Given the description of an element on the screen output the (x, y) to click on. 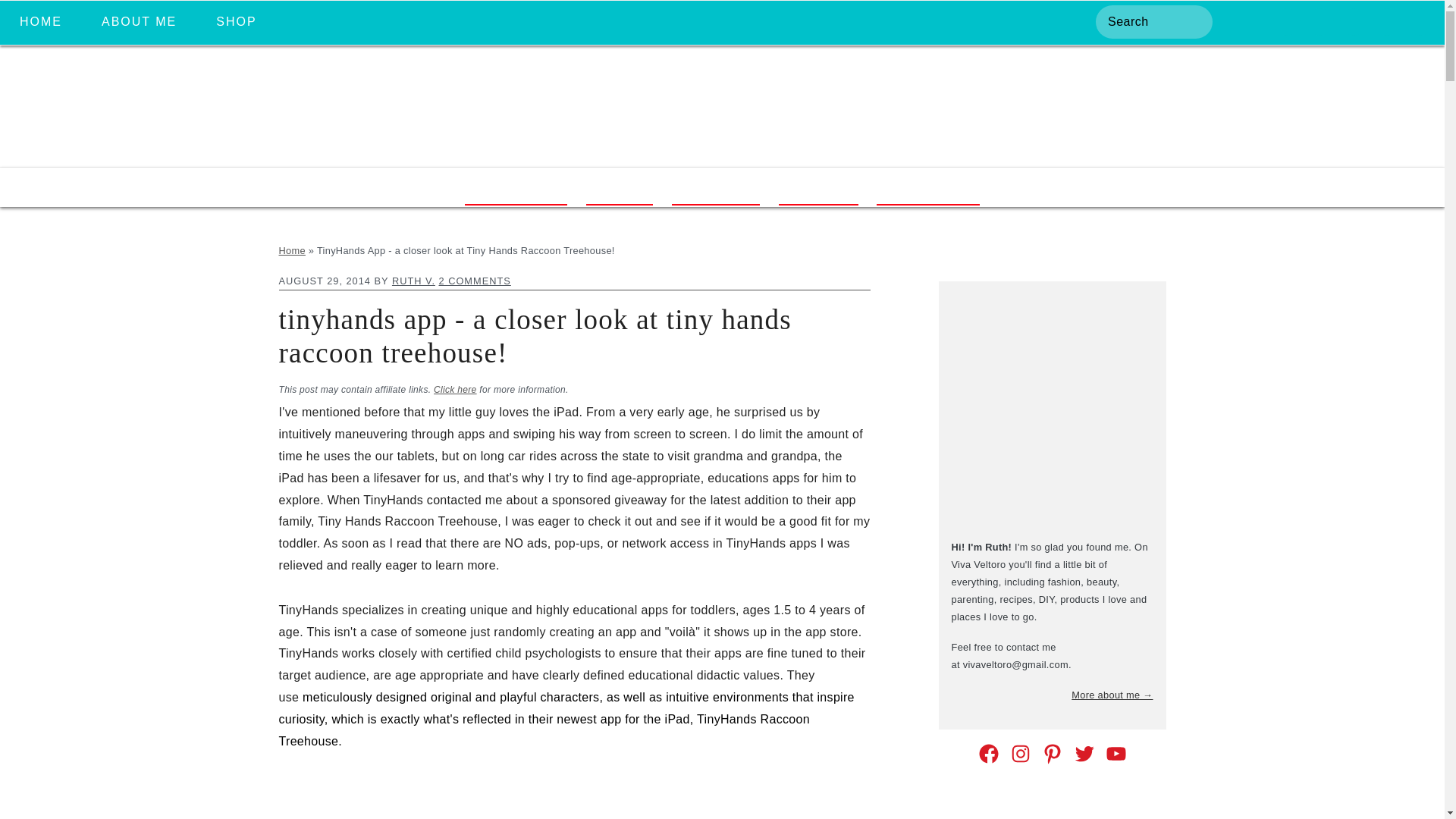
ABOUT ME (138, 21)
WELLNESS (927, 186)
TRAVEL (818, 186)
Viva Veltoro (721, 149)
TIEKS (619, 186)
SHOP (235, 21)
LIFESTYLE (515, 186)
RECIPES (715, 186)
HOME (40, 21)
